Given the description of an element on the screen output the (x, y) to click on. 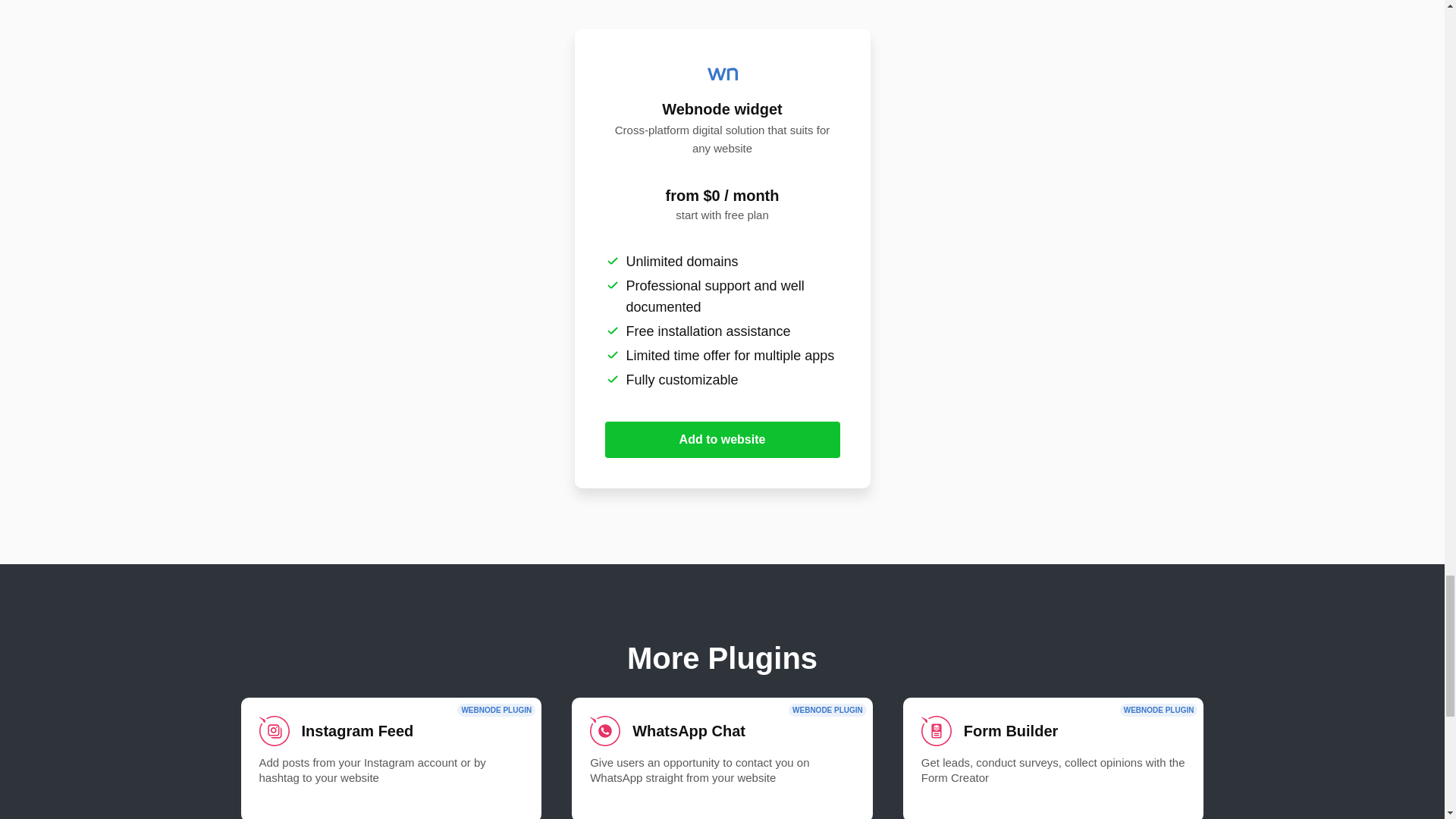
WhatsApp Chat (722, 758)
Form Builder (1053, 758)
Instagram Feed (391, 758)
